Given the description of an element on the screen output the (x, y) to click on. 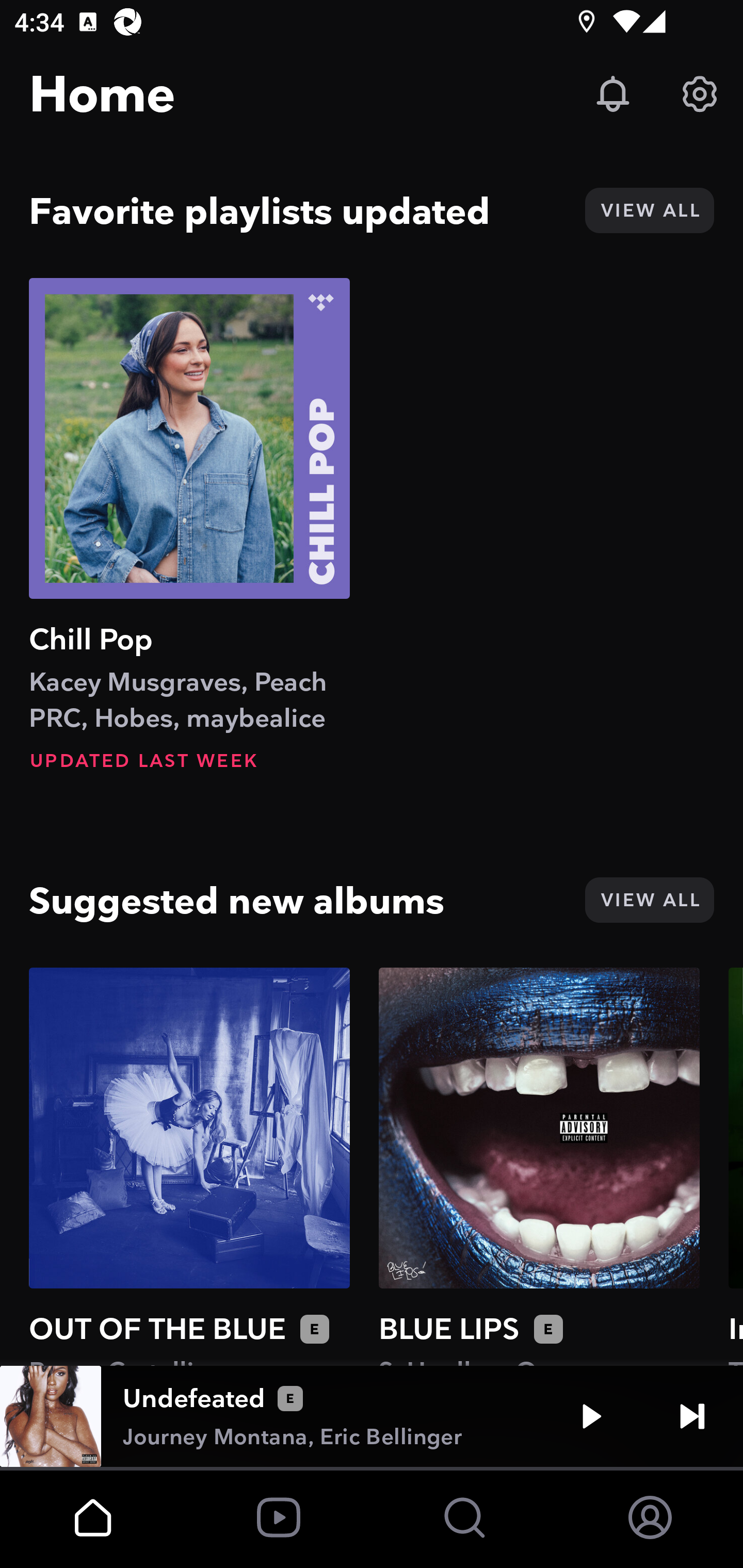
Updates (612, 93)
Settings (699, 93)
VIEW ALL (649, 210)
VIEW ALL (649, 899)
OUT OF THE BLUE Brynn Cartelli (188, 1166)
BLUE LIPS ScHoolboy Q (538, 1166)
Undefeated    Journey Montana, Eric Bellinger Play (371, 1416)
Play (590, 1416)
